Given the description of an element on the screen output the (x, y) to click on. 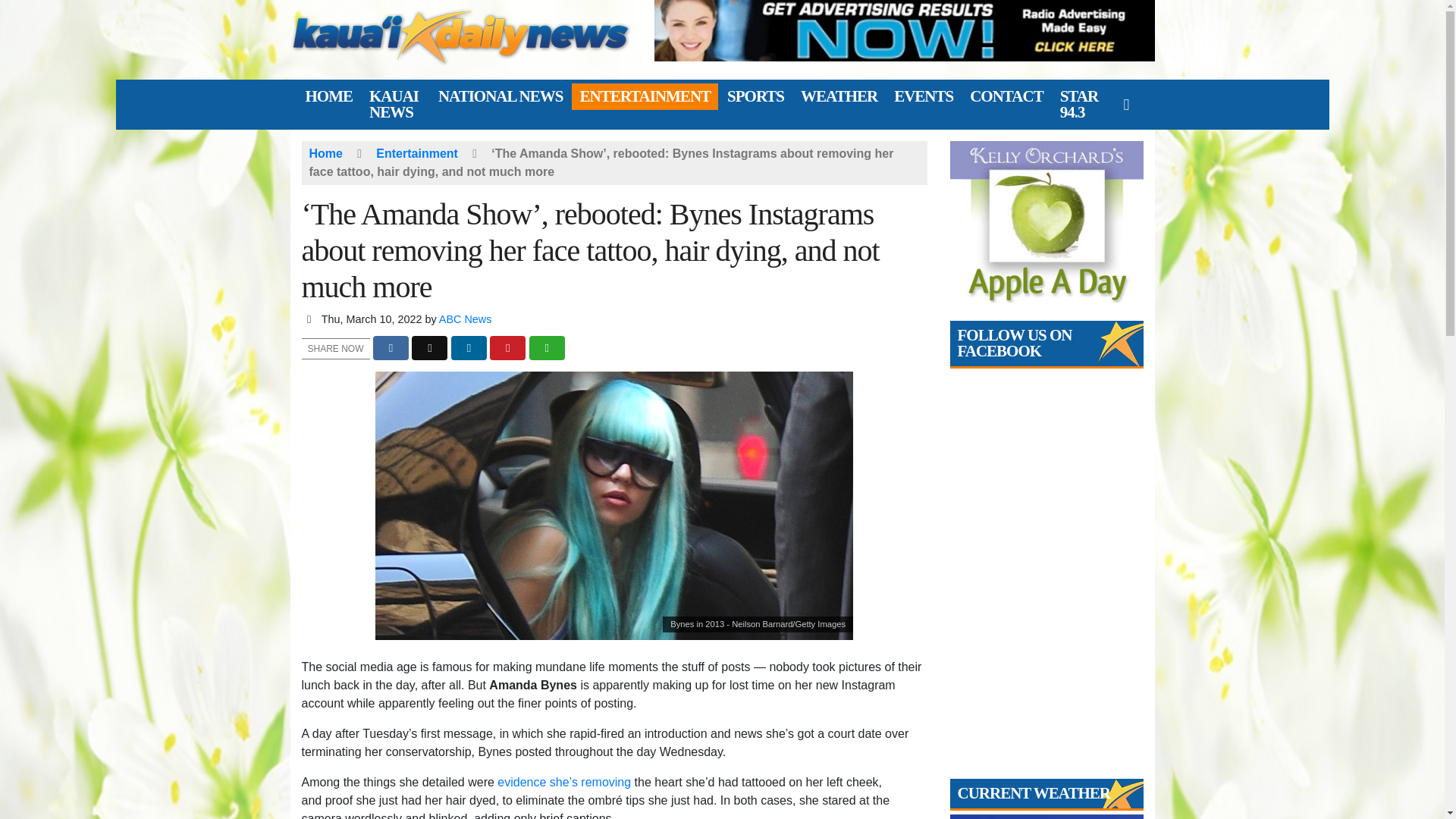
Share to LinkedIn (468, 348)
Share to X (429, 348)
Share to Facebook (390, 348)
Share to Pinterest (507, 348)
Share via E-Mail (546, 348)
Posts by ABC News (465, 318)
